Given the description of an element on the screen output the (x, y) to click on. 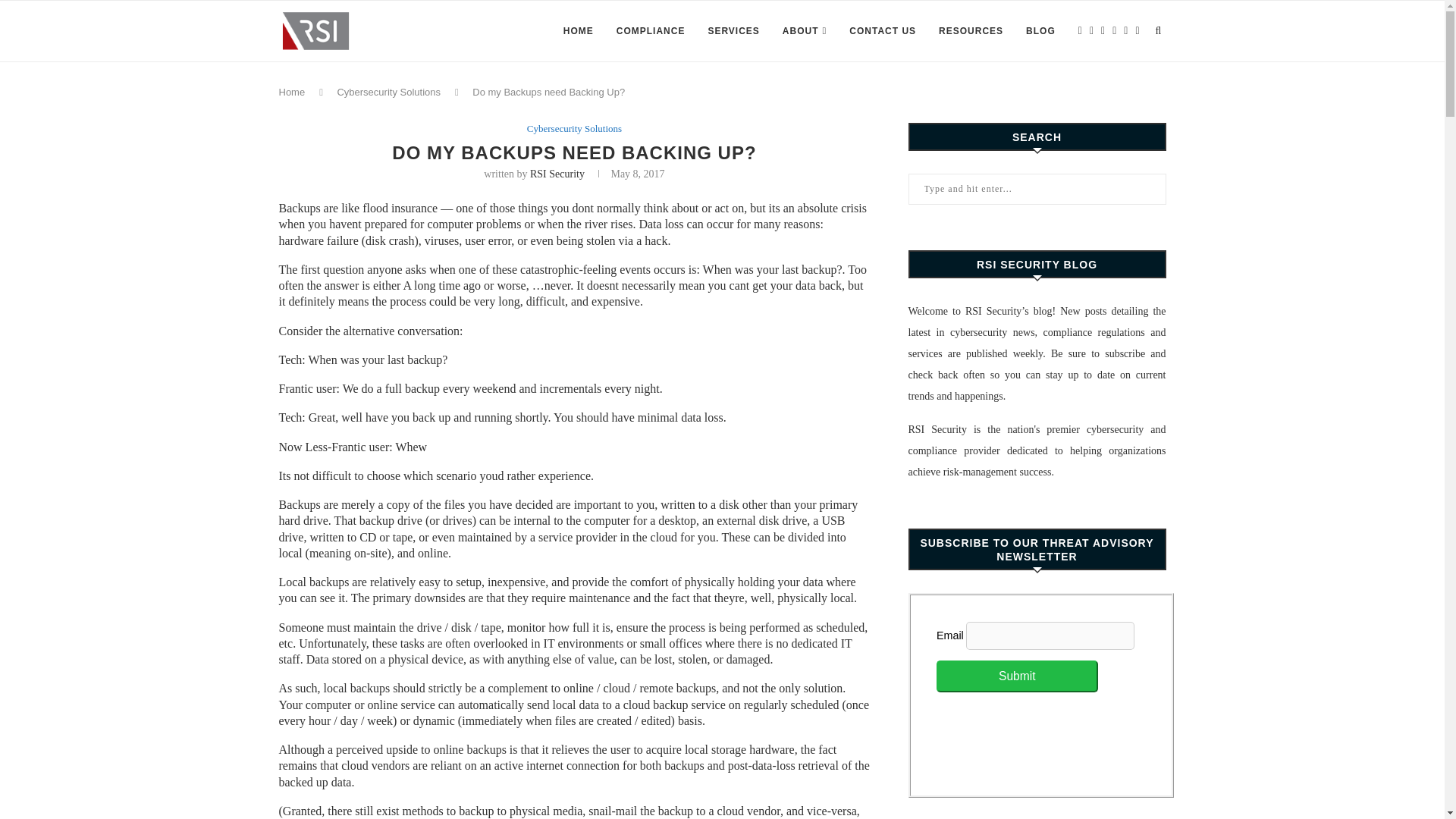
Home (292, 91)
RESOURCES (971, 30)
COMPLIANCE (650, 30)
CONTACT US (881, 30)
